Given the description of an element on the screen output the (x, y) to click on. 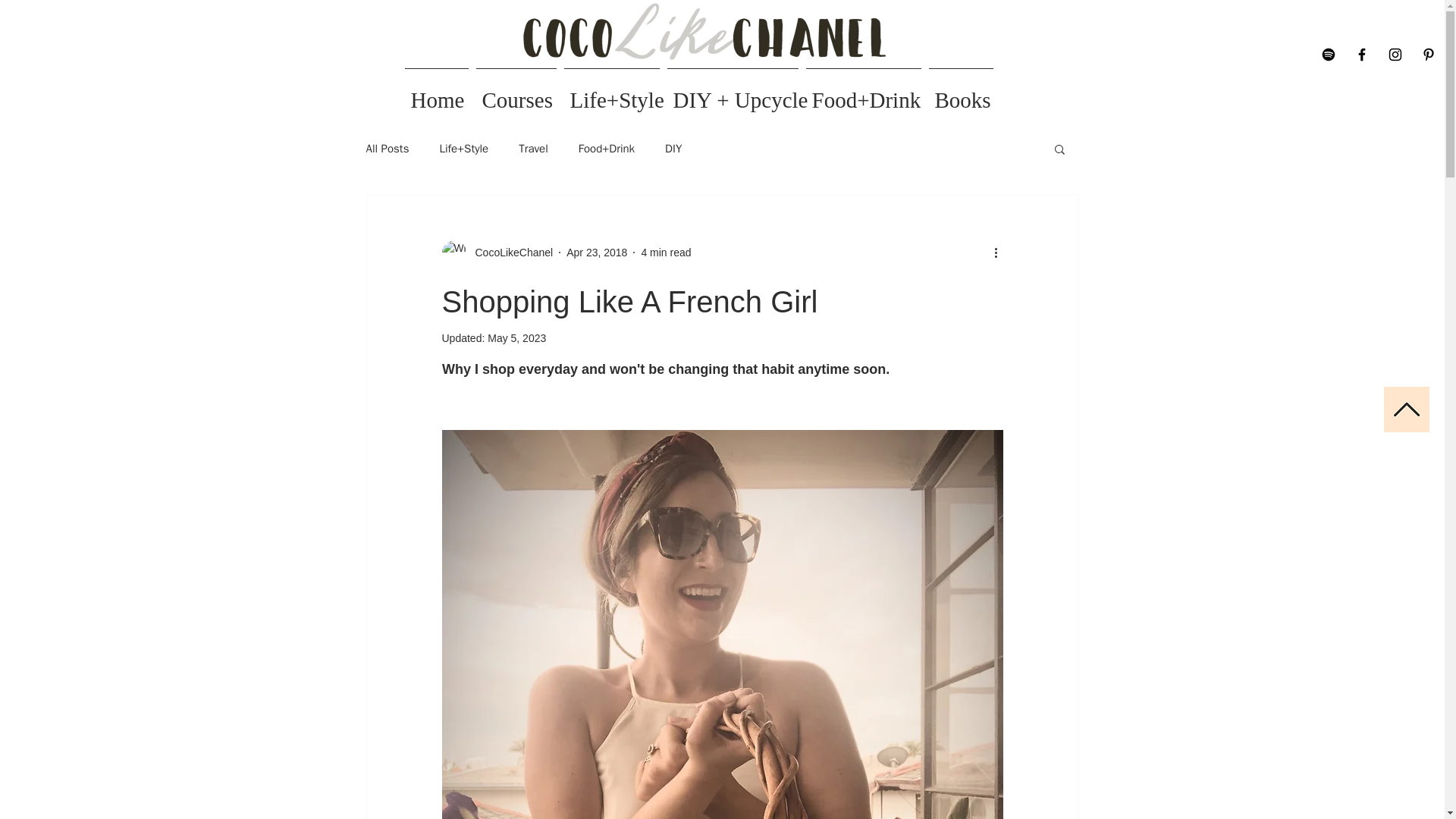
Apr 23, 2018 (596, 251)
DIY (673, 147)
Home (435, 92)
May 5, 2023 (516, 337)
Courses (515, 92)
Books (960, 92)
Travel (533, 147)
4 min read (665, 251)
All Posts (387, 147)
CocoLikeChanel (509, 252)
